Given the description of an element on the screen output the (x, y) to click on. 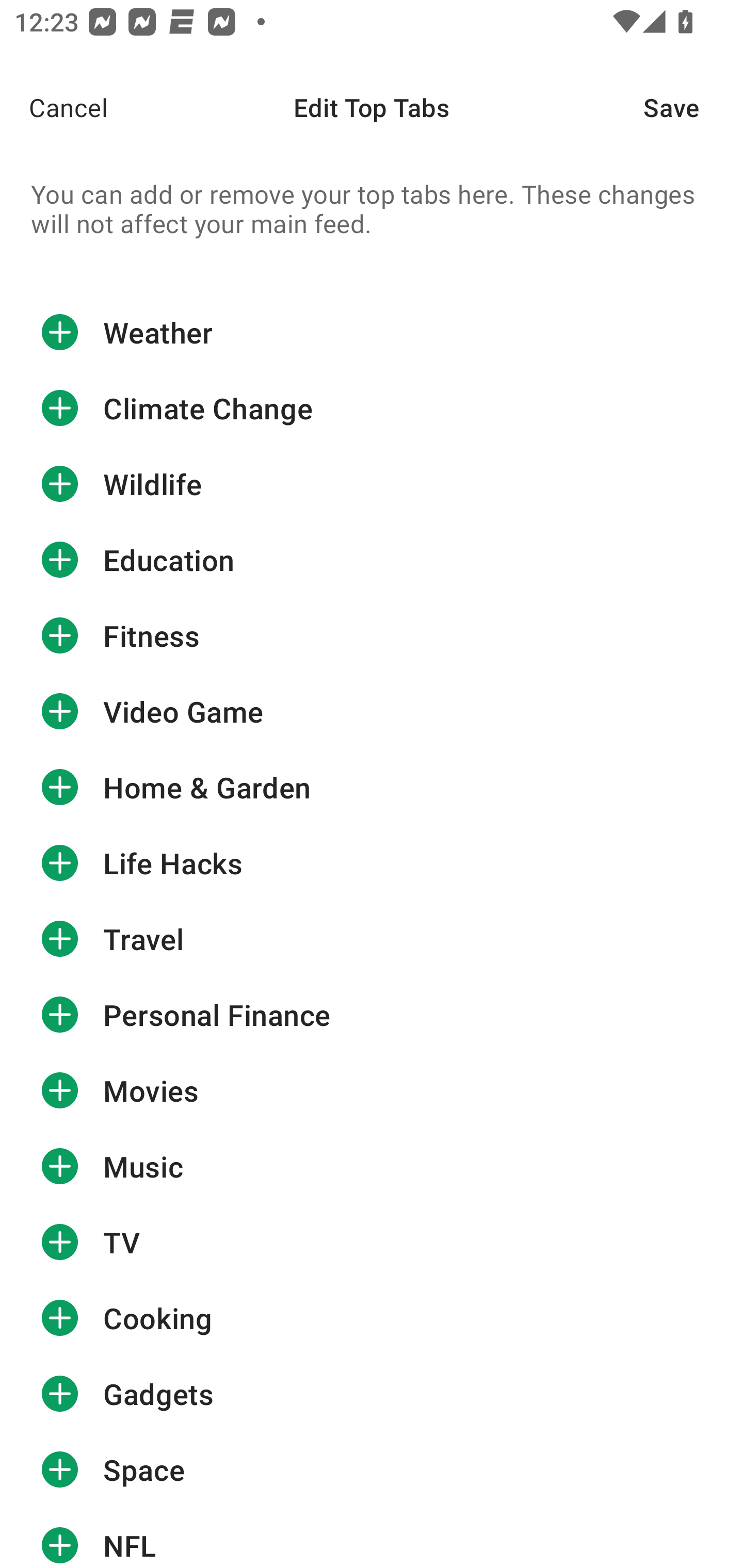
Cancel (53, 106)
Save (693, 106)
Weather (371, 332)
Climate Change (371, 408)
Wildlife (371, 484)
Education (371, 559)
Fitness (371, 635)
Video Game (371, 711)
Home & Garden (371, 786)
Life Hacks (371, 862)
Travel (371, 938)
Personal Finance (371, 1014)
Movies (371, 1090)
Music (371, 1166)
TV (371, 1241)
Cooking (371, 1317)
Gadgets (371, 1393)
Space (371, 1469)
NFL (371, 1538)
